Given the description of an element on the screen output the (x, y) to click on. 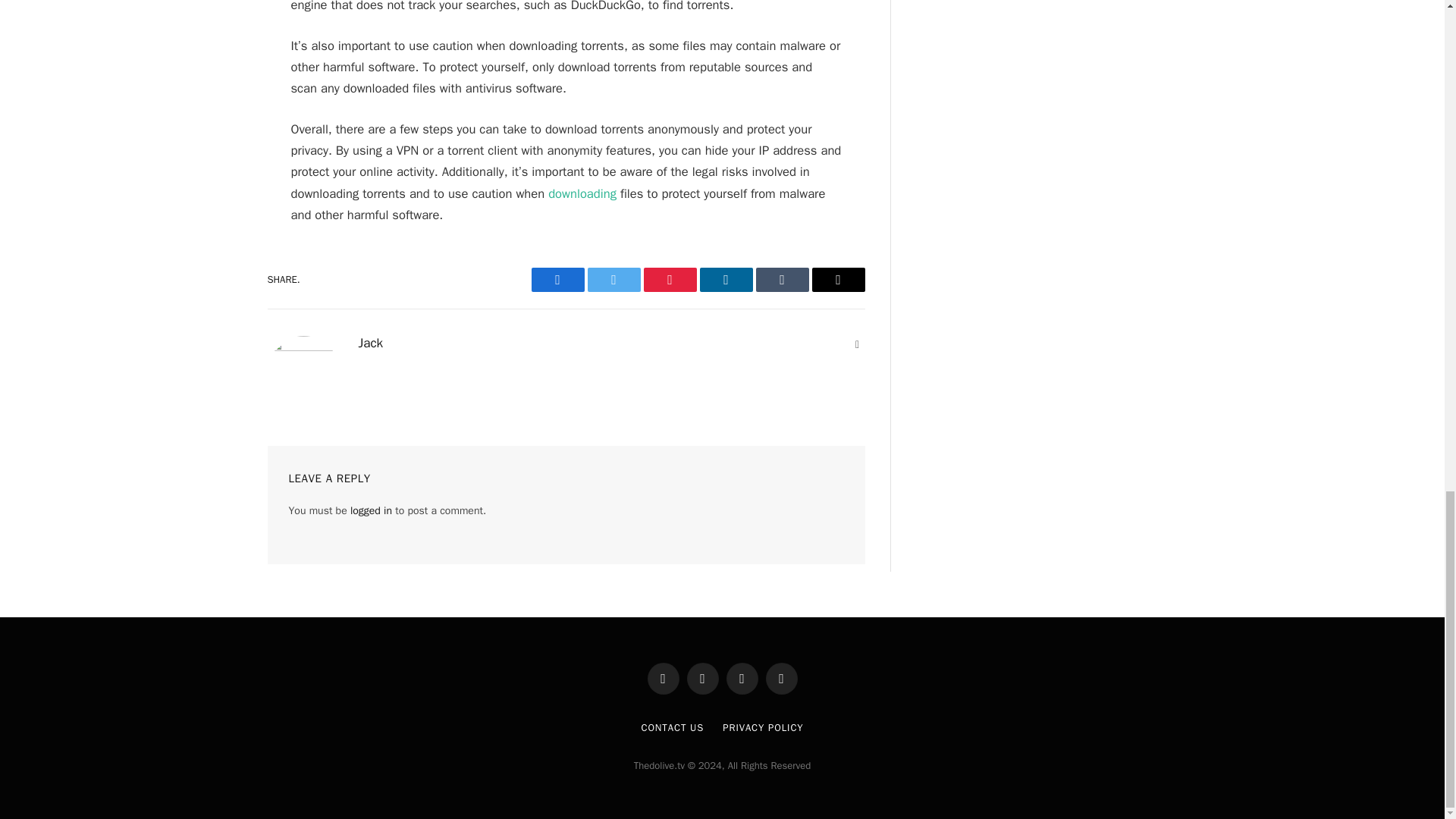
Facebook (557, 279)
Twitter (613, 279)
downloading (581, 193)
Pinterest (669, 279)
